Given the description of an element on the screen output the (x, y) to click on. 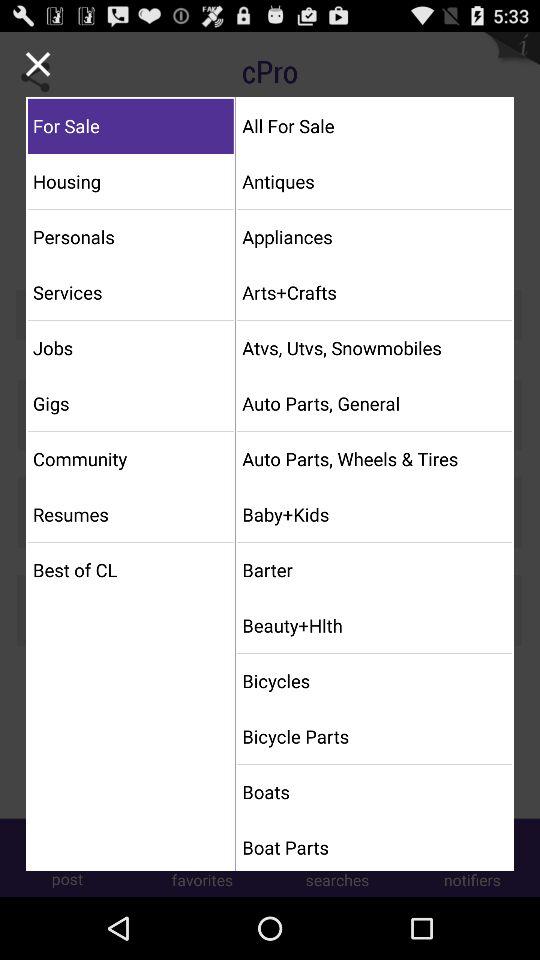
select the bicycles item (374, 680)
